Given the description of an element on the screen output the (x, y) to click on. 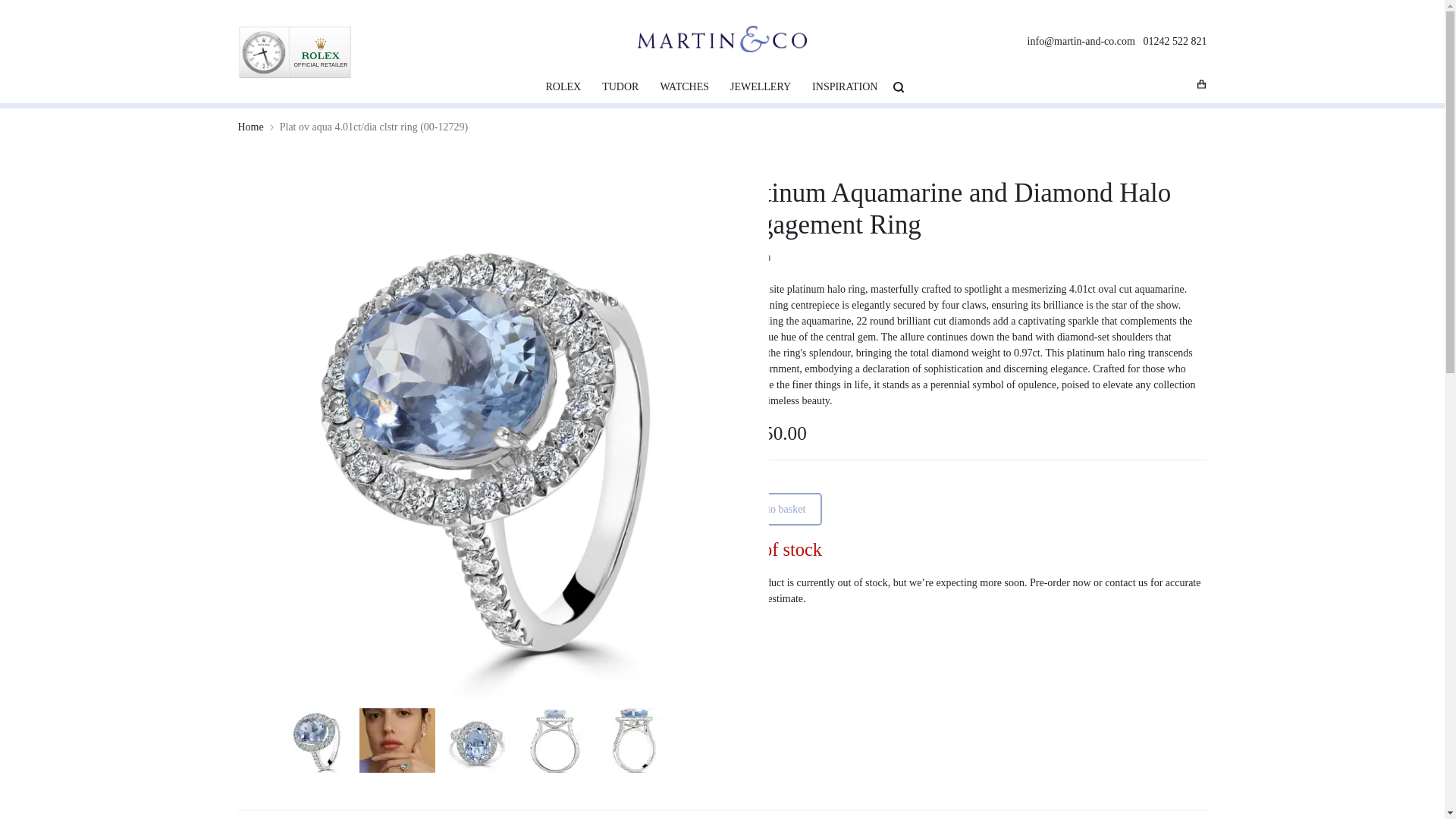
TUDOR (620, 87)
Rolex Clock (295, 51)
ROLEX (563, 87)
JEWELLERY (760, 87)
WATCHES (684, 87)
01242 522 821 (1174, 41)
